Given the description of an element on the screen output the (x, y) to click on. 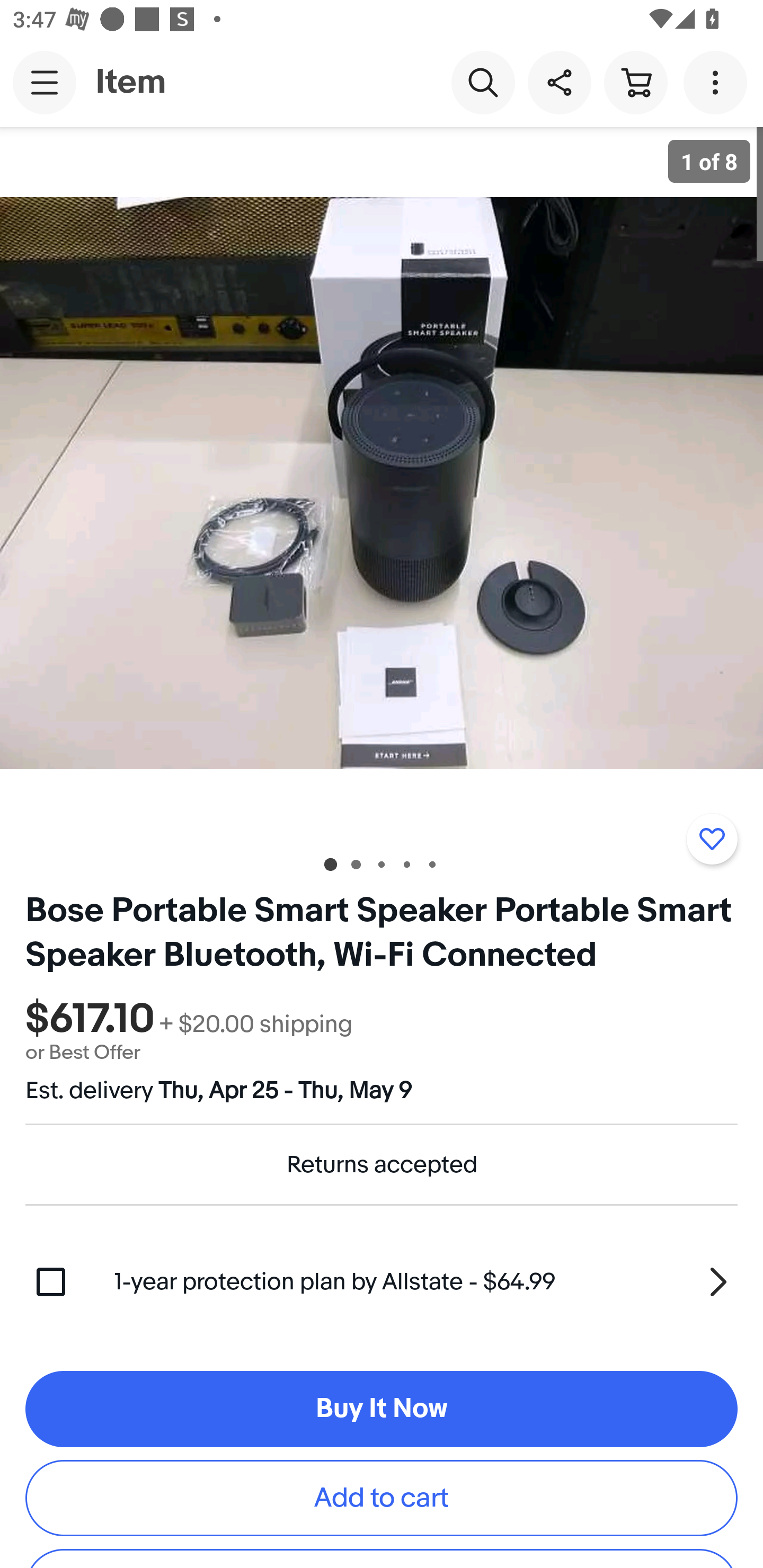
Main navigation, open (44, 82)
Search (482, 81)
Share this item (559, 81)
Cart button shopping cart (635, 81)
More options (718, 81)
Item image 1 of 8 (381, 482)
Add to watchlist (711, 838)
1-year protection plan by Allstate - $64.99 (425, 1281)
Buy It Now (381, 1408)
Add to cart (381, 1497)
